Given the description of an element on the screen output the (x, y) to click on. 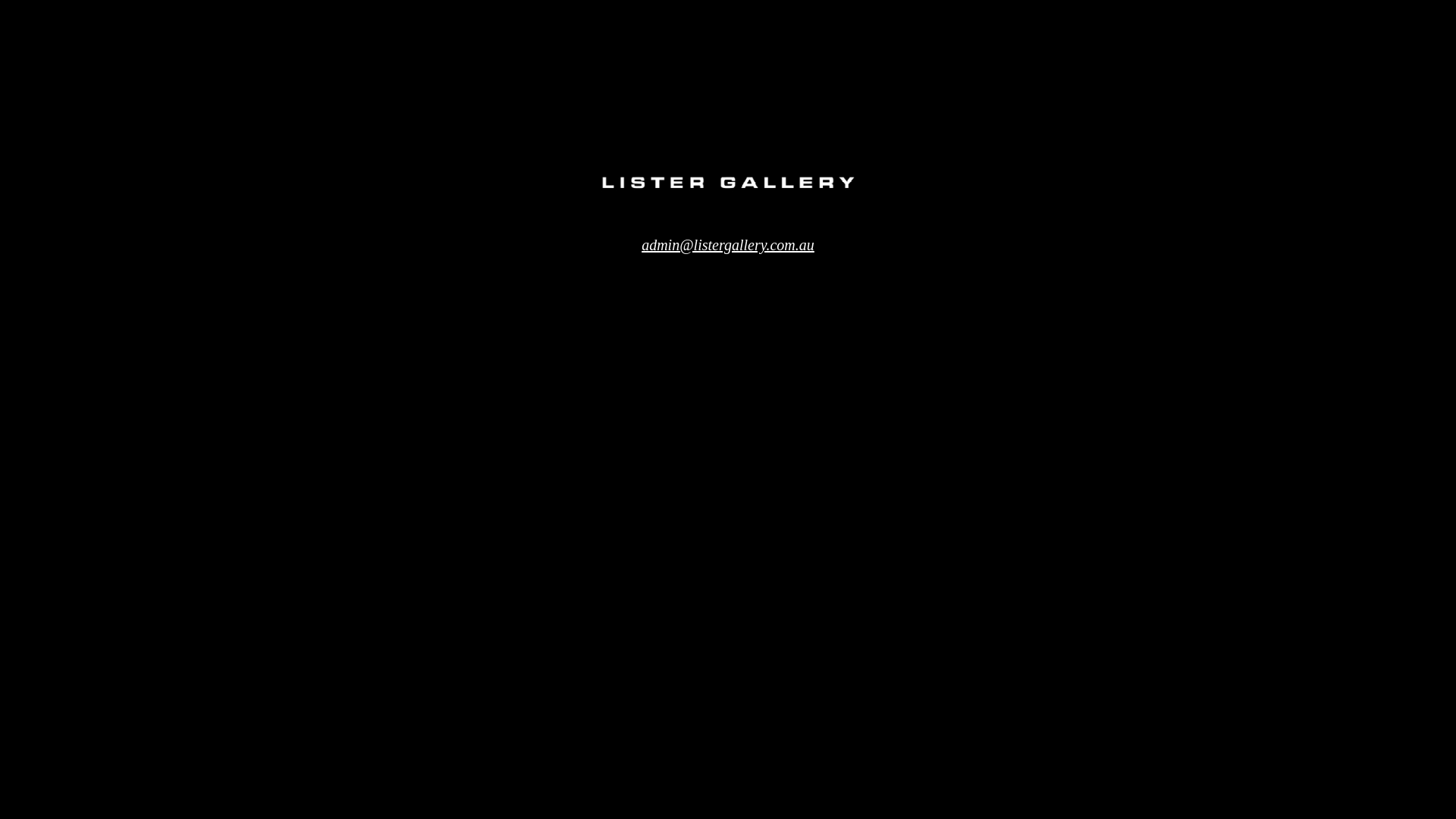
admin@listergallery.com.au Element type: text (727, 244)
